Given the description of an element on the screen output the (x, y) to click on. 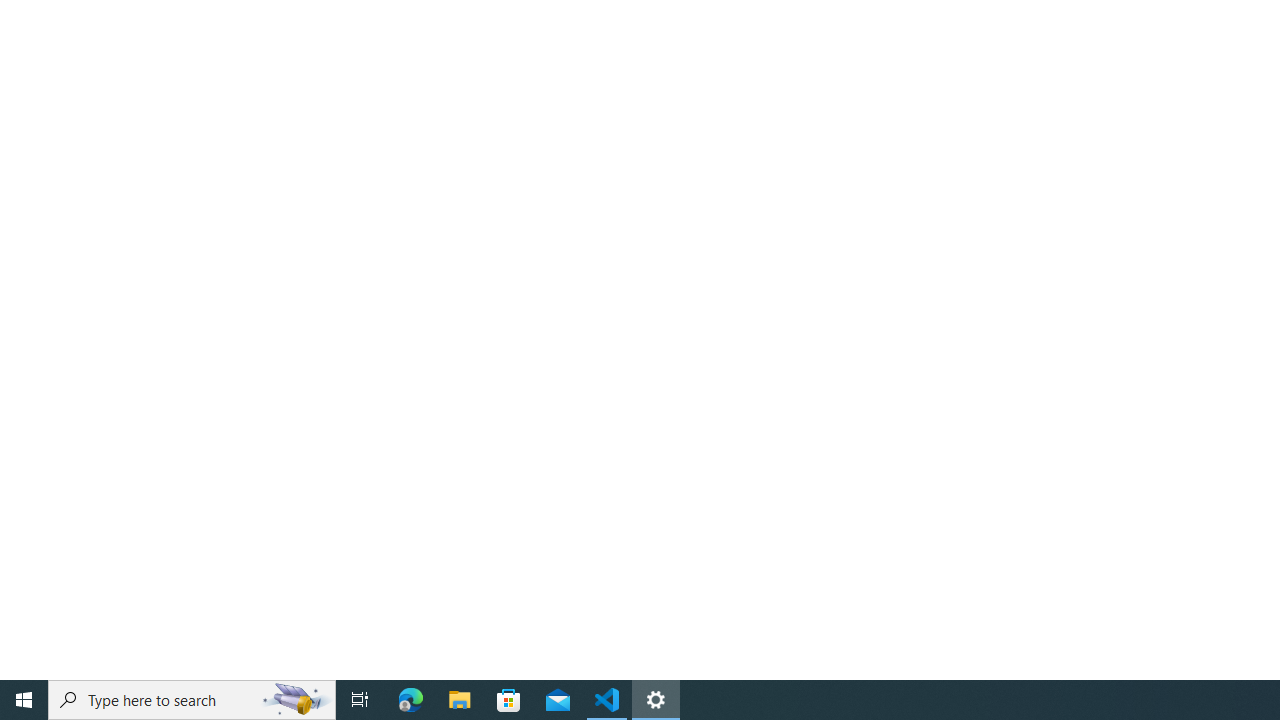
Start (24, 699)
Search highlights icon opens search home window (295, 699)
Microsoft Store (509, 699)
Task View (359, 699)
Type here to search (191, 699)
Visual Studio Code - 1 running window (607, 699)
Microsoft Edge (411, 699)
File Explorer (460, 699)
Settings - 1 running window (656, 699)
